Given the description of an element on the screen output the (x, y) to click on. 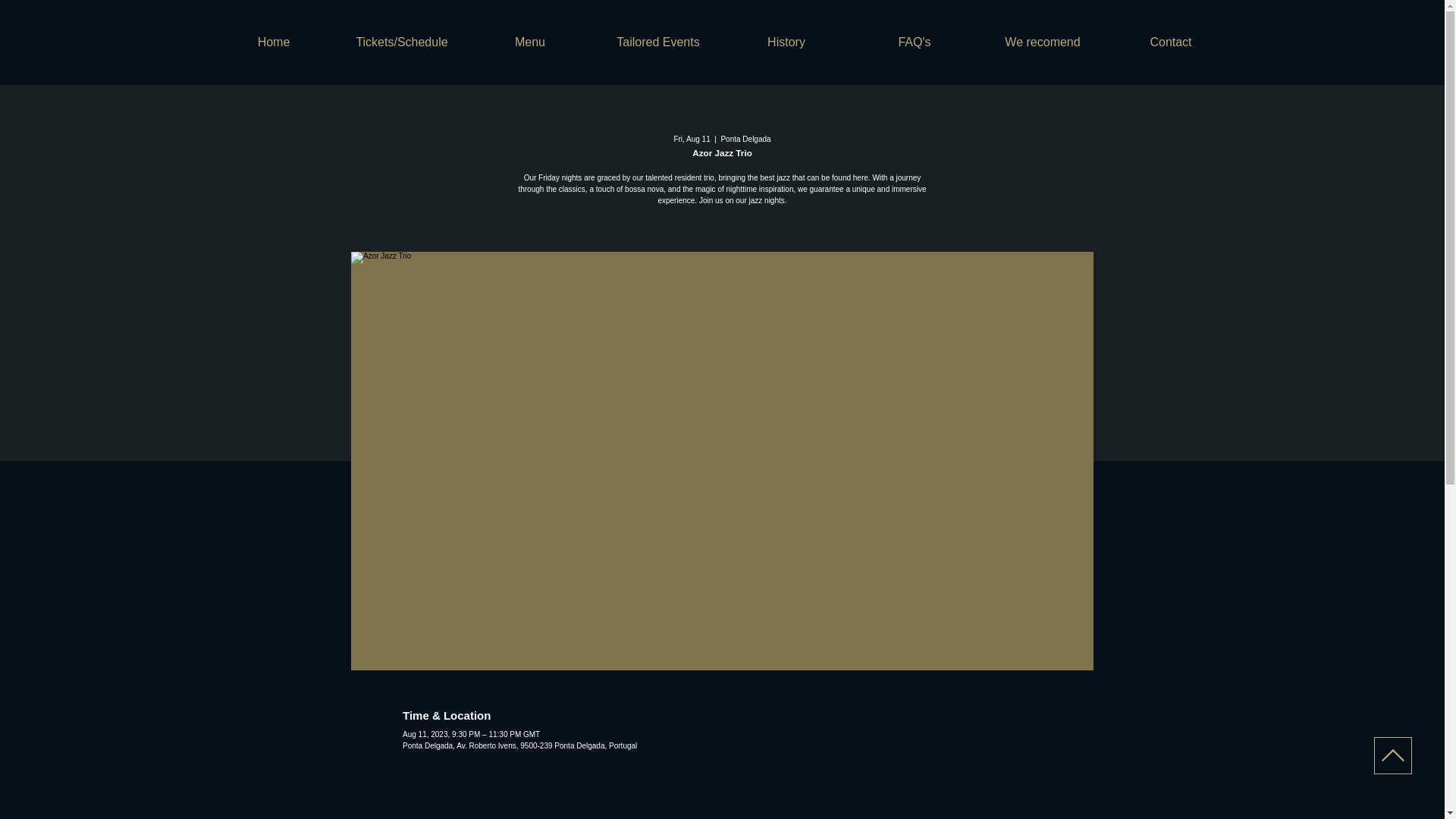
History (786, 41)
Tailored Events (658, 41)
Menu (529, 41)
Contact (1170, 41)
Home (273, 41)
We recomend (1042, 41)
FAQ's (914, 41)
